Given the description of an element on the screen output the (x, y) to click on. 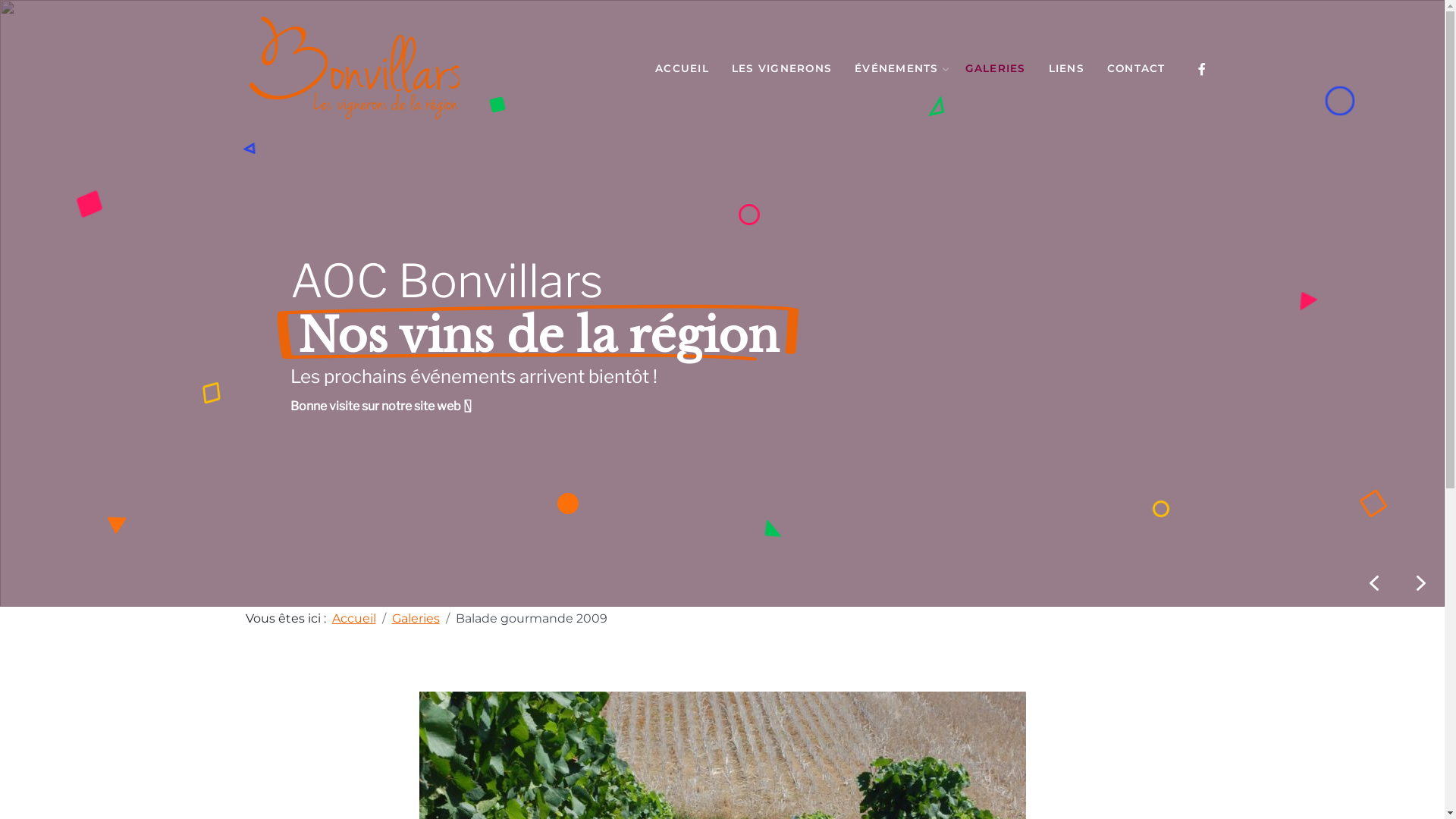
Facebook Element type: text (1201, 68)
GALERIES Element type: text (994, 68)
Accueil Element type: text (354, 618)
LIENS Element type: text (1065, 68)
ACCUEIL Element type: text (682, 68)
LES VIGNERONS Element type: text (781, 68)
AOC Bonvillars Element type: hover (354, 68)
Galeries Element type: text (415, 618)
CONTACT Element type: text (1136, 68)
